Given the description of an element on the screen output the (x, y) to click on. 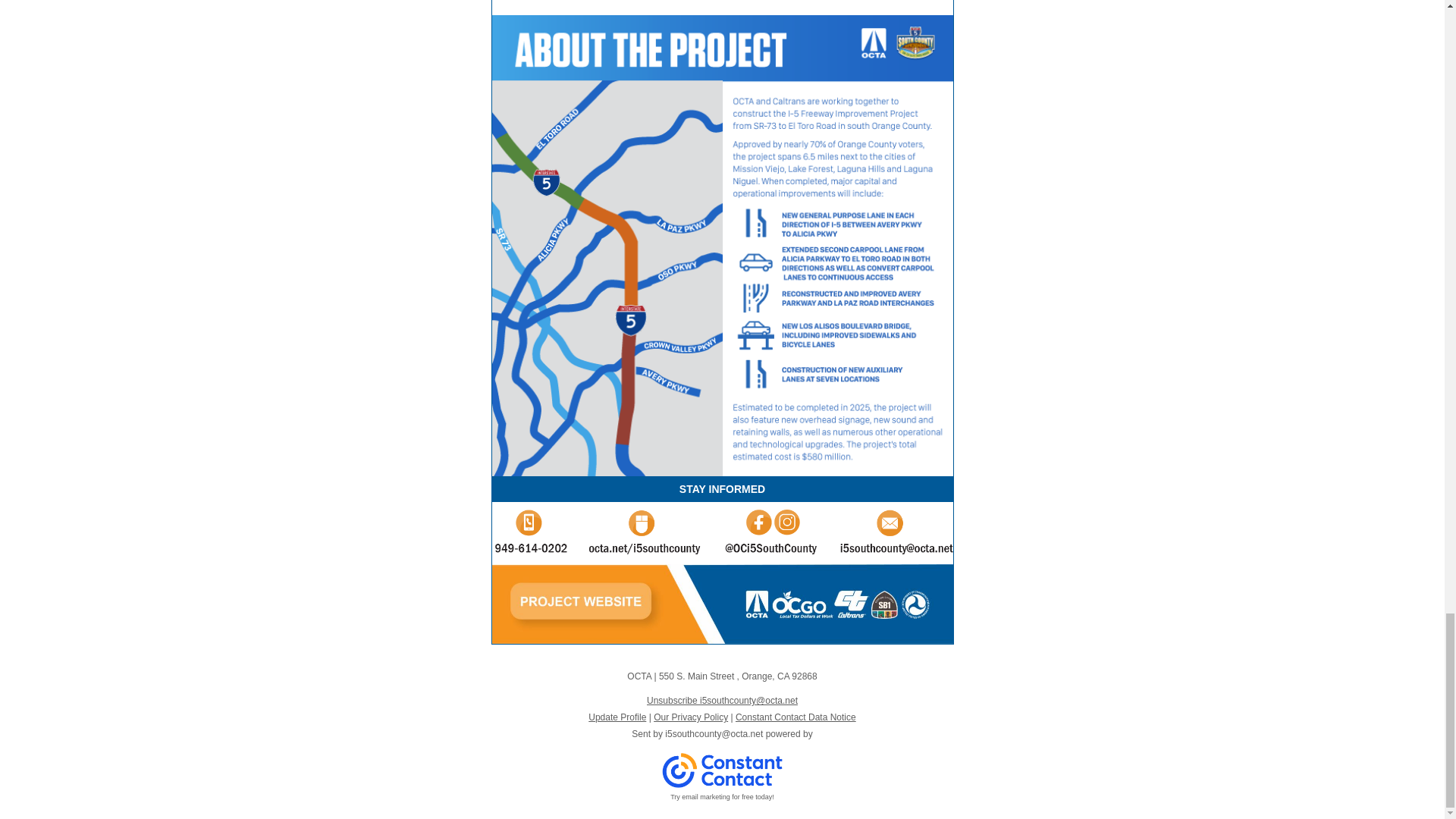
Our Privacy Policy (690, 716)
Update Profile (617, 716)
Try email marketing for free today! (721, 796)
Constant Contact Data Notice (795, 716)
